Given the description of an element on the screen output the (x, y) to click on. 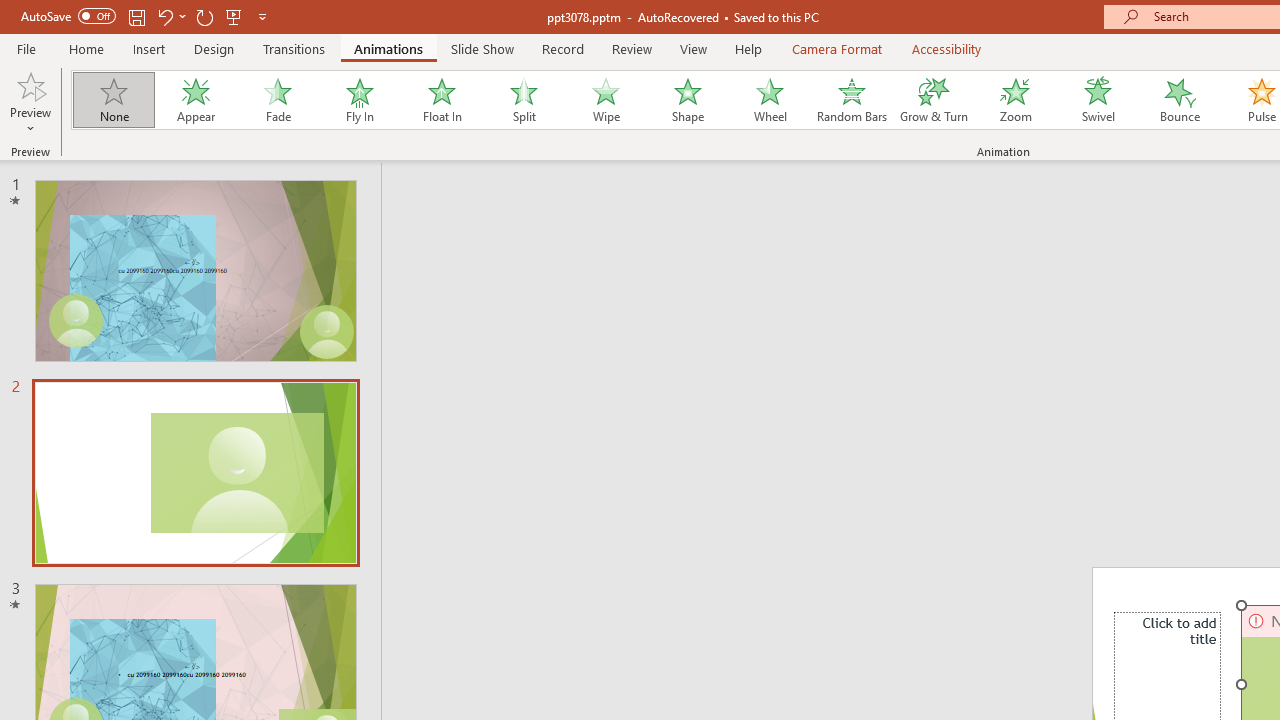
Float In (441, 100)
None (113, 100)
Camera Format (836, 48)
Wipe (605, 100)
Fly In (359, 100)
Shape (687, 100)
